Given the description of an element on the screen output the (x, y) to click on. 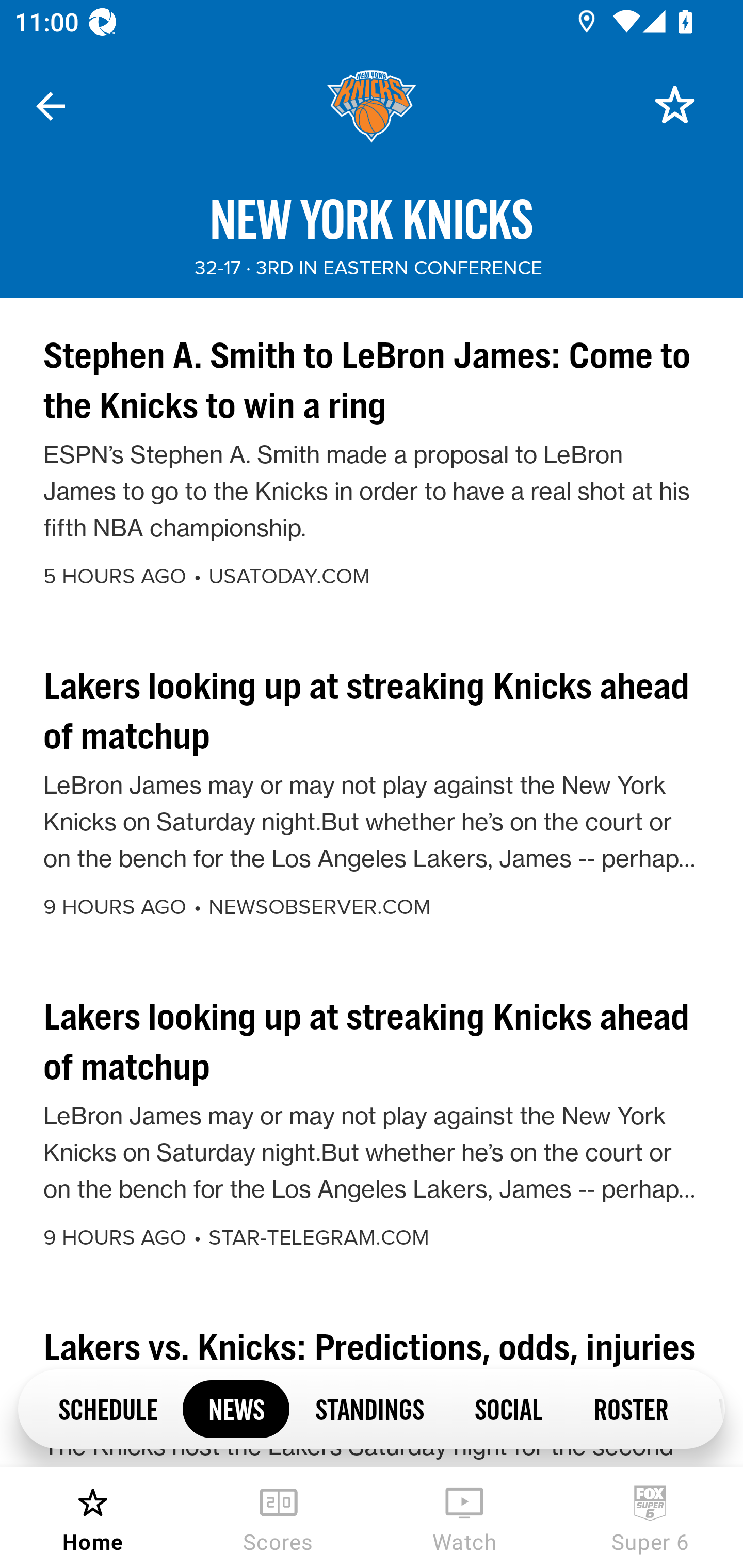
Navigate up (50, 106)
32-17 · 3RD IN EASTERN CONFERENCE (368, 267)
SCHEDULE (107, 1408)
STANDINGS (369, 1408)
SOCIAL (508, 1408)
ROSTER (630, 1408)
Scores (278, 1517)
Watch (464, 1517)
Super 6 (650, 1517)
